Given the description of an element on the screen output the (x, y) to click on. 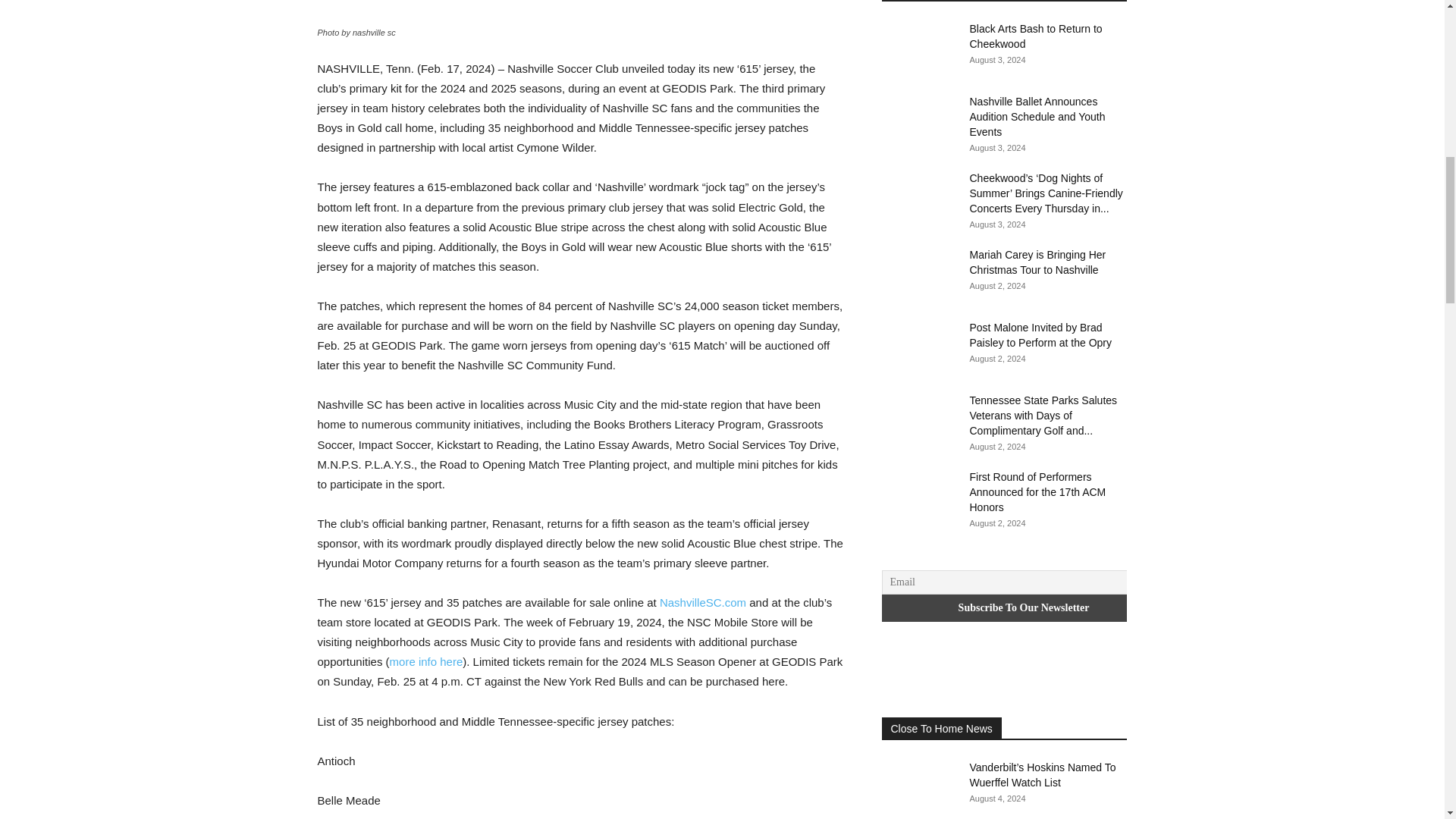
Subscribe To Our Newsletter (1023, 607)
